Given the description of an element on the screen output the (x, y) to click on. 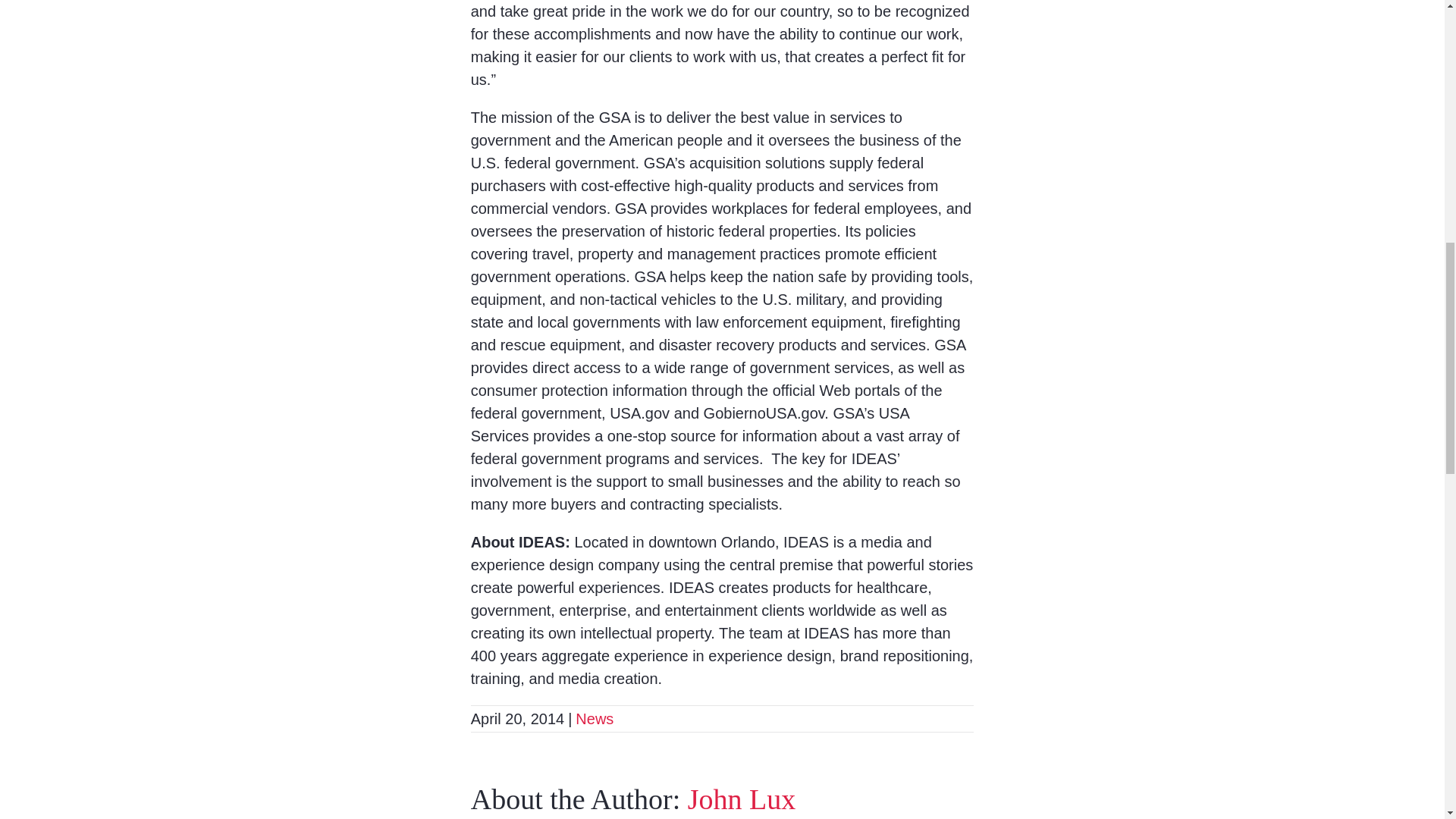
News (593, 718)
John Lux (741, 798)
